Given the description of an element on the screen output the (x, y) to click on. 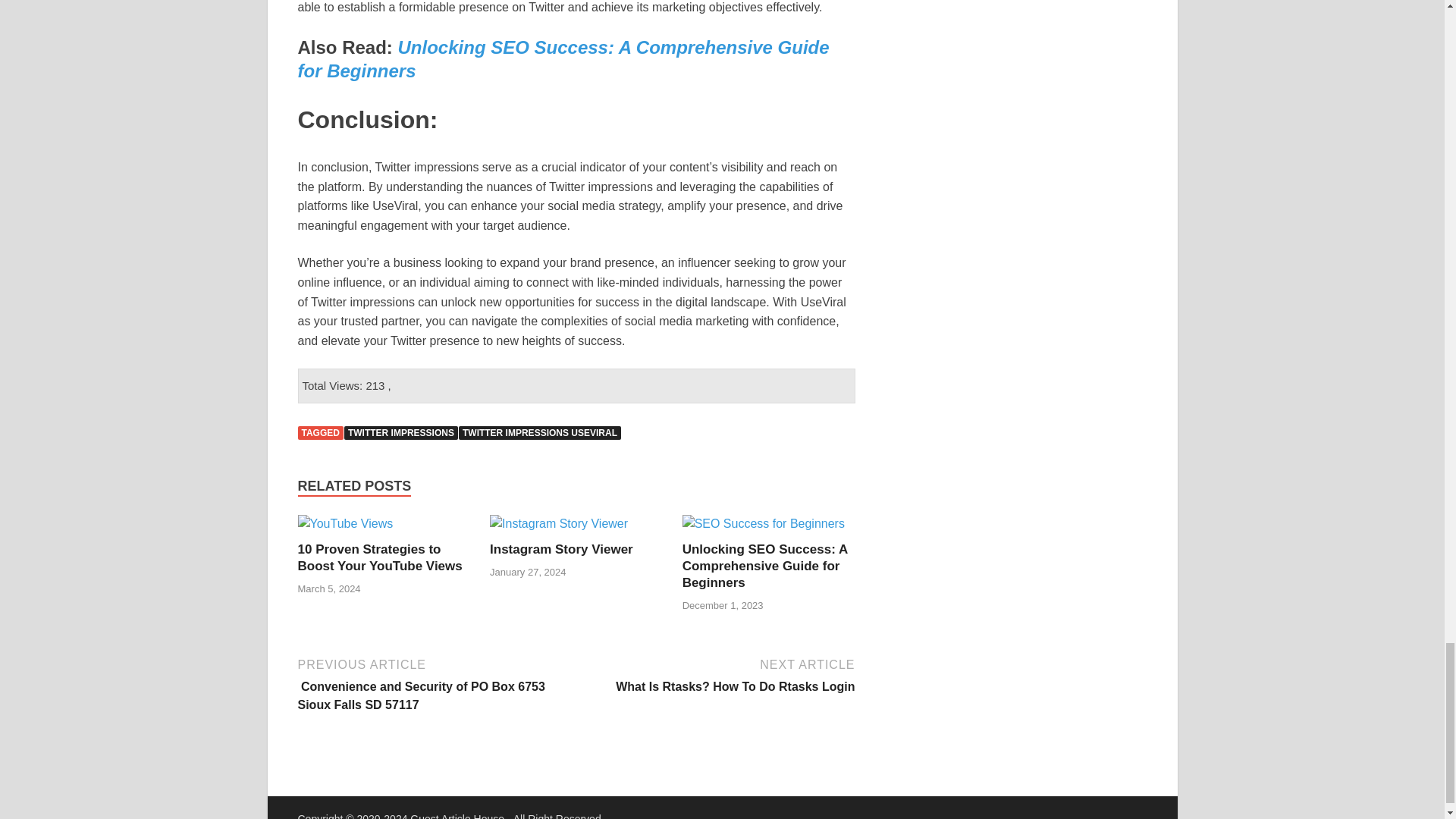
Unlocking SEO Success: A Comprehensive Guide for Beginners (764, 565)
Unlocking SEO Success: A Comprehensive Guide for Beginners (562, 58)
10 Proven Strategies to Boost Your YouTube Views (379, 557)
Instagram Story Viewer (561, 549)
Unlocking SEO Success: A Comprehensive Guide for Beginners (763, 522)
TWITTER IMPRESSIONS USEVIRAL (539, 432)
TWITTER IMPRESSIONS (400, 432)
10 Proven Strategies to Boost Your YouTube Views (345, 522)
Instagram Story Viewer (558, 522)
10 Proven Strategies to Boost Your YouTube Views (379, 557)
